Given the description of an element on the screen output the (x, y) to click on. 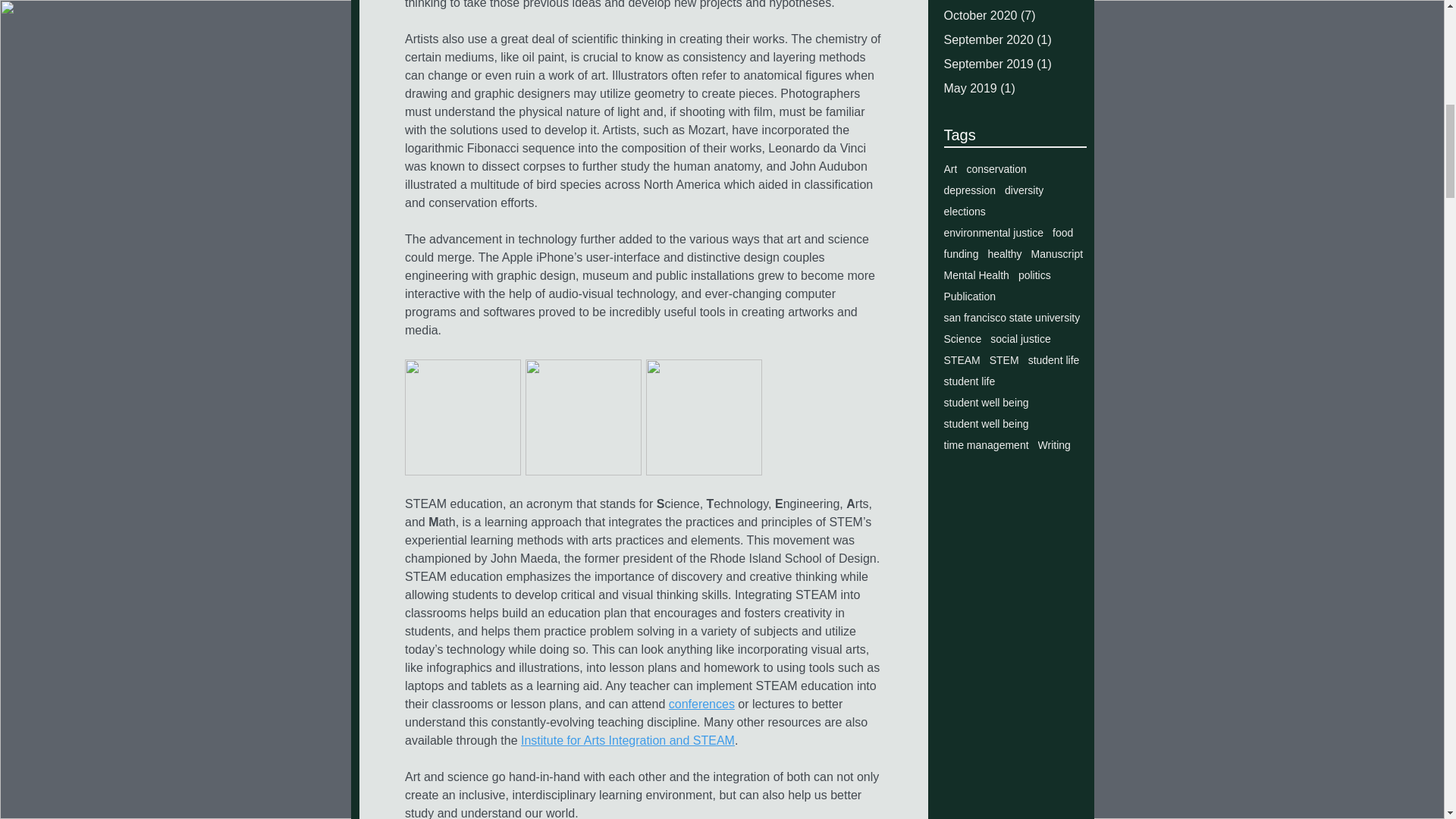
environmental justice (993, 232)
conservation (996, 168)
depression (969, 190)
Art (949, 168)
healthy (1004, 254)
diversity (1023, 190)
elections (964, 211)
food (1062, 232)
funding (960, 254)
